Given the description of an element on the screen output the (x, y) to click on. 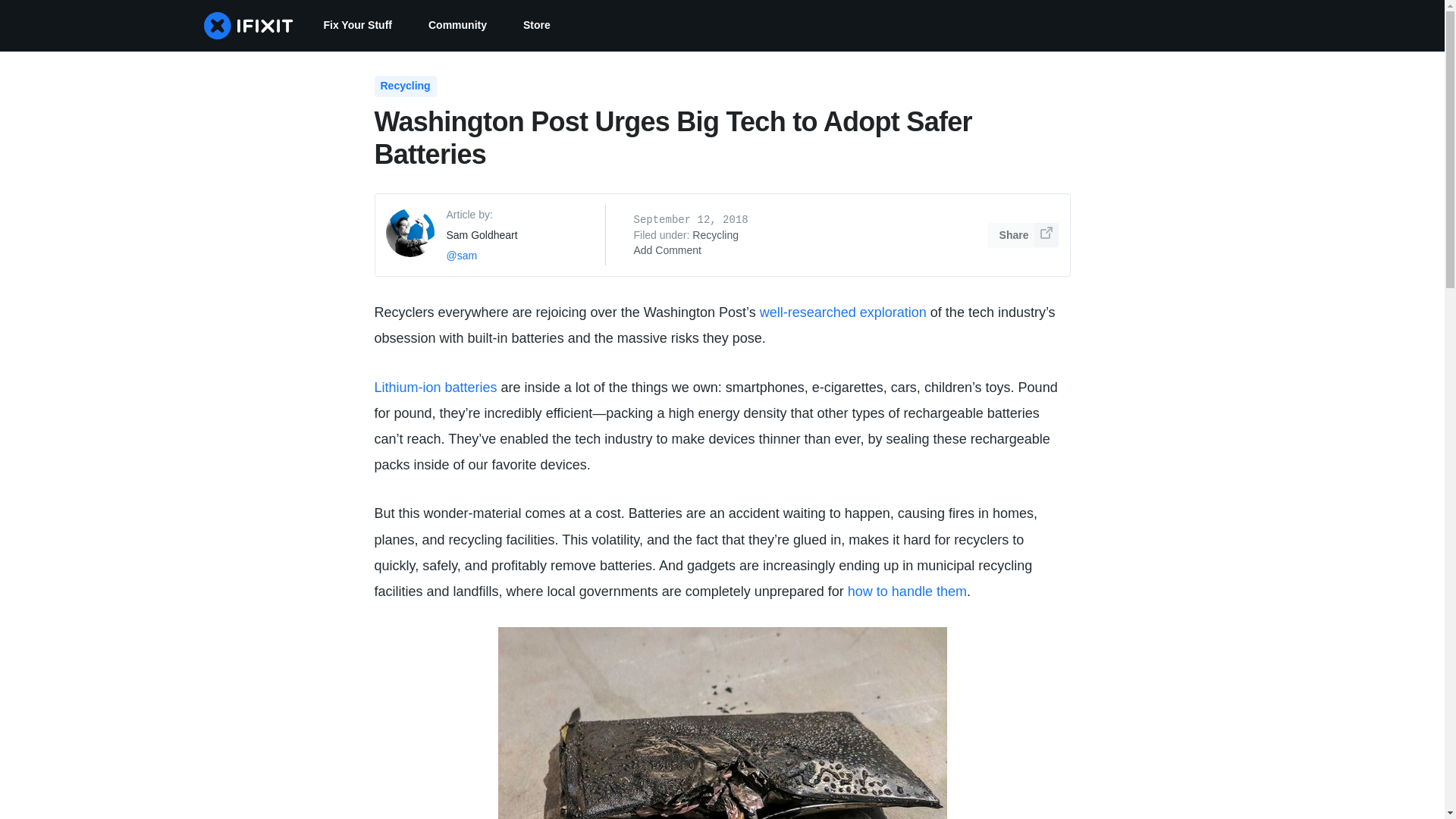
how to handle them (906, 590)
Share (1023, 235)
Lithium-ion batteries (435, 387)
Fix Your Stuff (356, 25)
well-researched exploration (843, 312)
Sam Goldheart (480, 235)
Store (537, 25)
Add Comment (666, 250)
Recycling (405, 86)
Recycling (715, 234)
Community (457, 25)
